Given the description of an element on the screen output the (x, y) to click on. 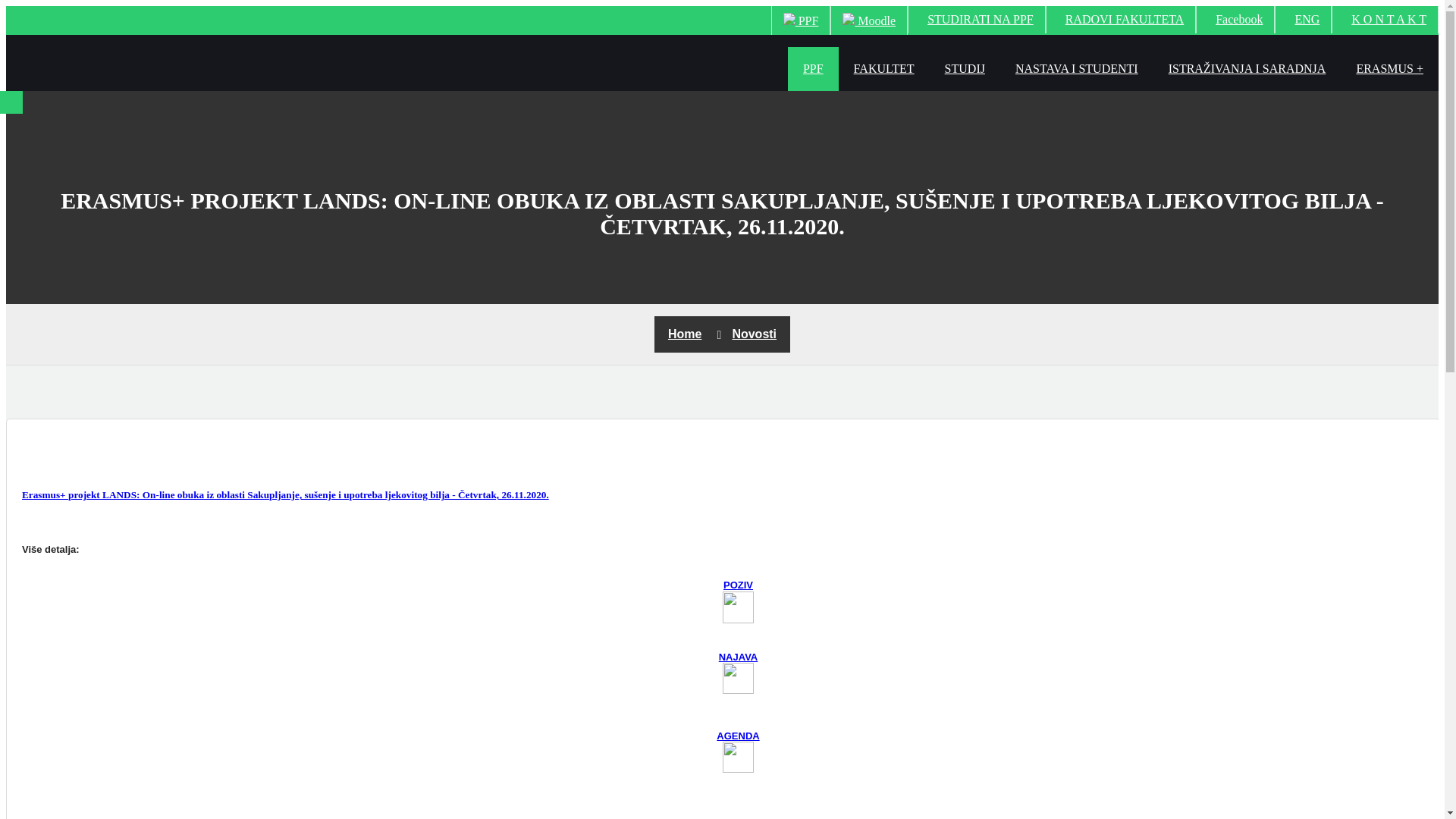
Home Element type: text (684, 334)
STUDIJ Element type: text (964, 69)
POZIV Element type: text (738, 584)
Moodle Element type: text (868, 20)
FAKULTET Element type: text (883, 69)
NASTAVA I STUDENTI Element type: text (1076, 69)
K O N T A K T Element type: text (1384, 19)
ENG Element type: text (1302, 19)
PPF Element type: text (812, 69)
AGENDA Element type: text (737, 735)
NAJAVA Element type: text (738, 656)
Novosti Element type: text (754, 334)
STUDIRATI NA PPF Element type: text (976, 19)
PPF Element type: text (800, 20)
ERASMUS + Element type: text (1389, 69)
RADOVI FAKULTETA Element type: text (1120, 19)
Facebook Element type: text (1235, 19)
